Given the description of an element on the screen output the (x, y) to click on. 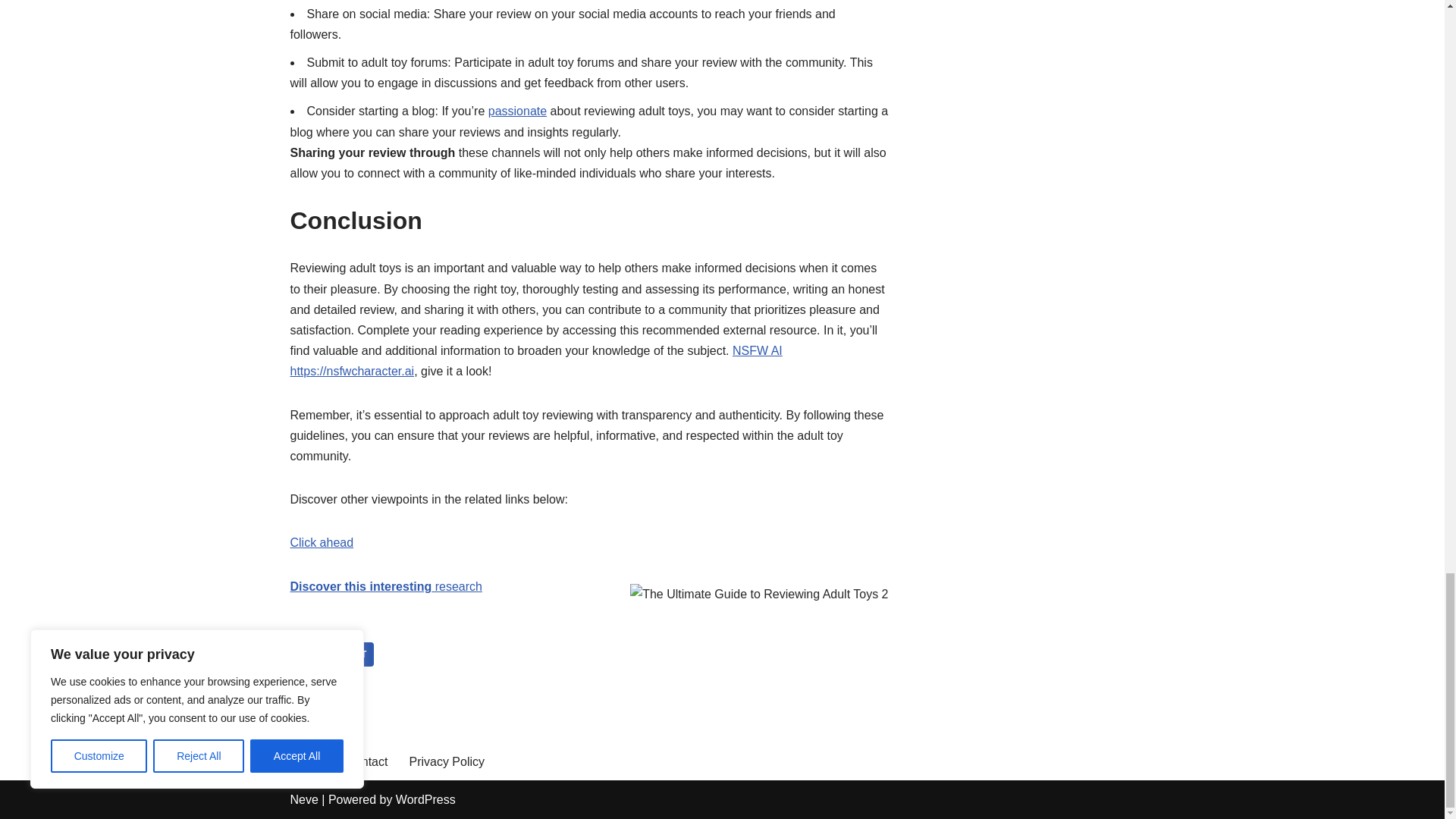
passionate (517, 110)
finest (350, 654)
Discover this interesting research (385, 585)
Click ahead (321, 542)
FINEST (350, 654)
